Given the description of an element on the screen output the (x, y) to click on. 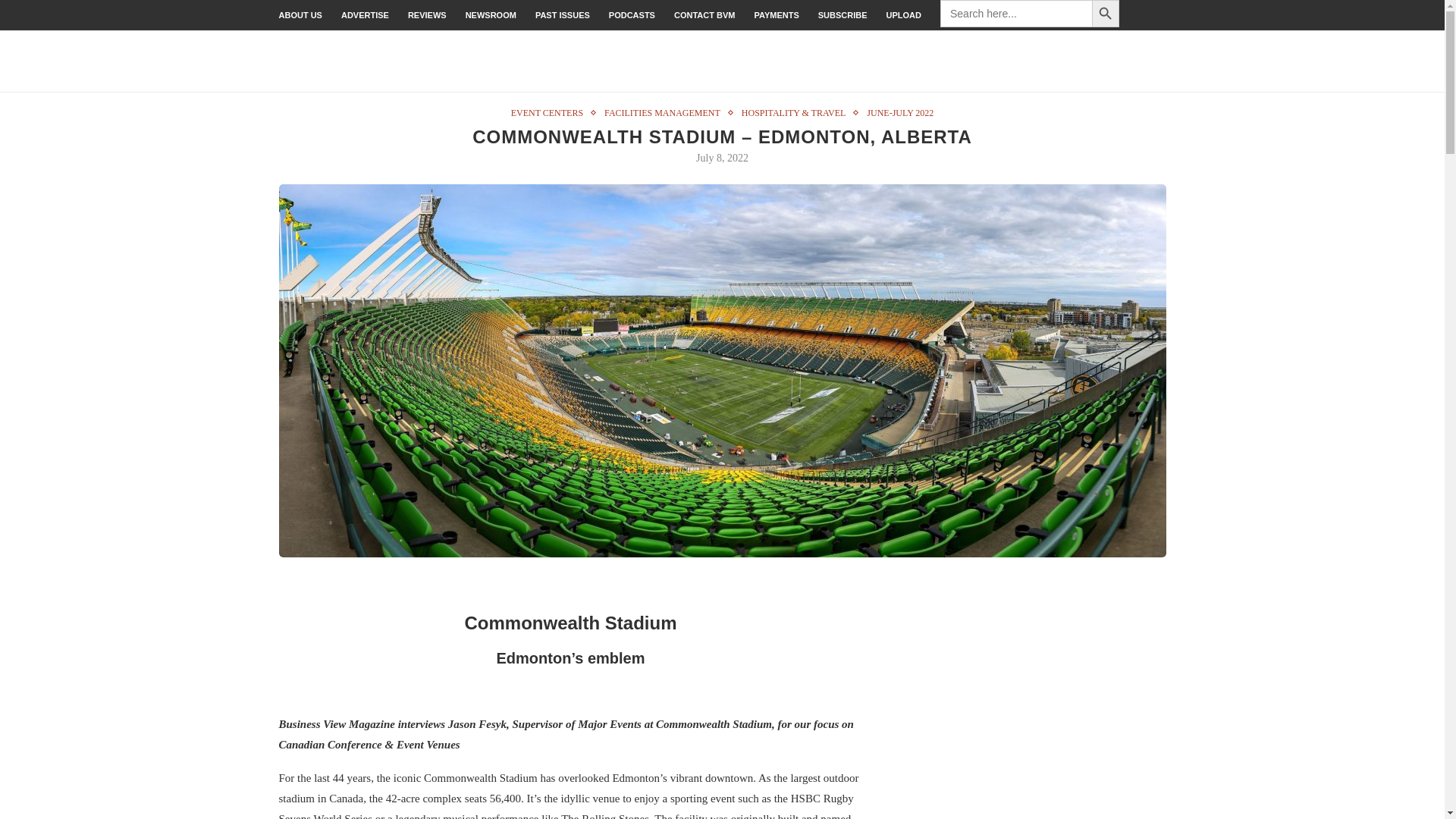
ABOUT US (300, 14)
View all posts in Facilities Management (666, 112)
PODCASTS (631, 14)
View all posts in June-July 2022 (899, 112)
SUBSCRIBE (842, 14)
PAST ISSUES (562, 14)
FACILITIES MANAGEMENT (666, 112)
UPLOAD (903, 14)
CONTACT BVM (704, 14)
Upload (903, 14)
